Given the description of an element on the screen output the (x, y) to click on. 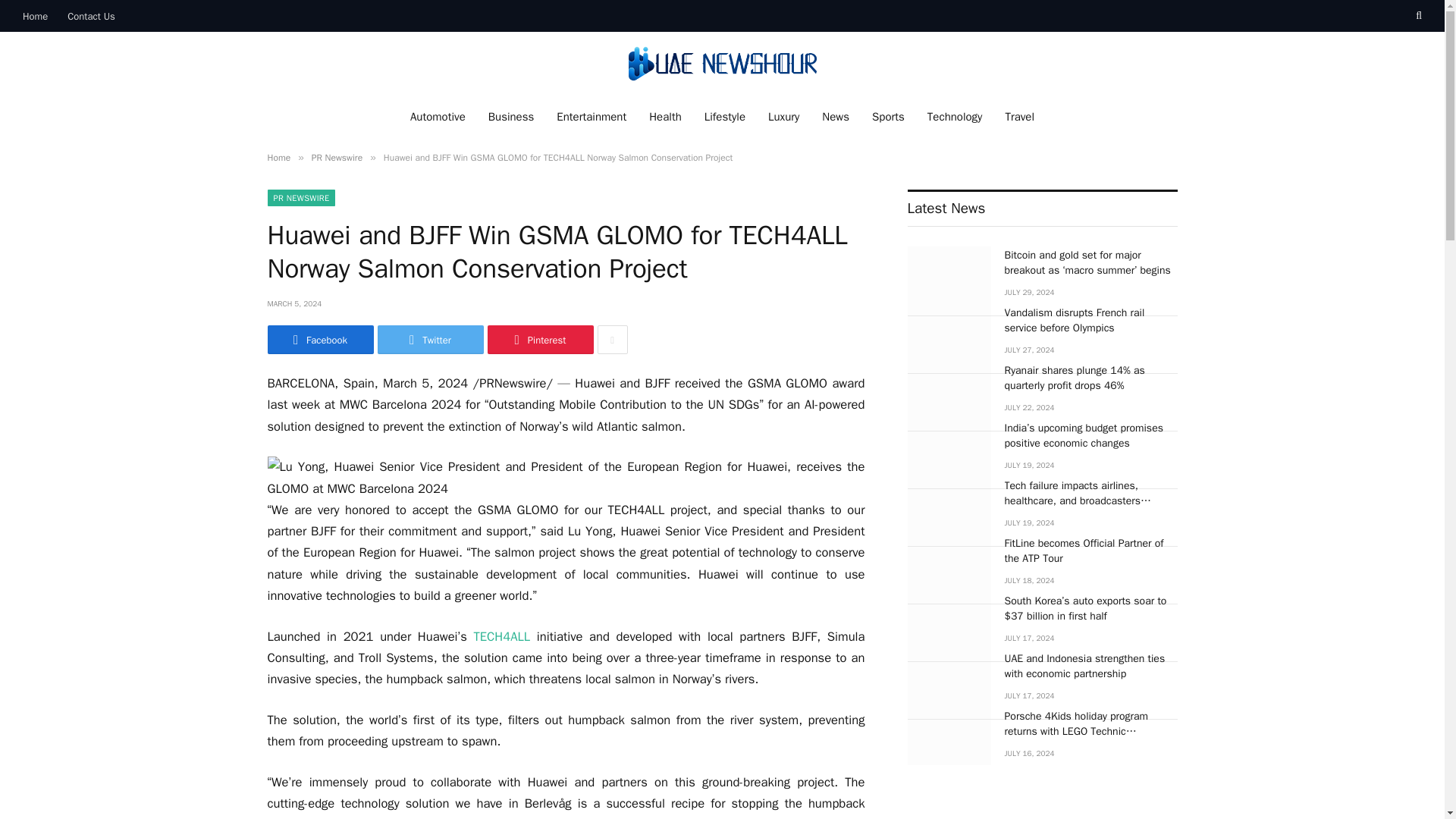
Travel (1018, 116)
Entertainment (590, 116)
Sports (887, 116)
Share on Pinterest (539, 339)
Automotive (437, 116)
Contact Us (91, 15)
Share on Facebook (319, 339)
Health (665, 116)
PR Newswire (336, 157)
Lifestyle (725, 116)
UAE Newshour (721, 63)
Home (277, 157)
Luxury (783, 116)
Pinterest (539, 339)
Twitter (430, 339)
